Given the description of an element on the screen output the (x, y) to click on. 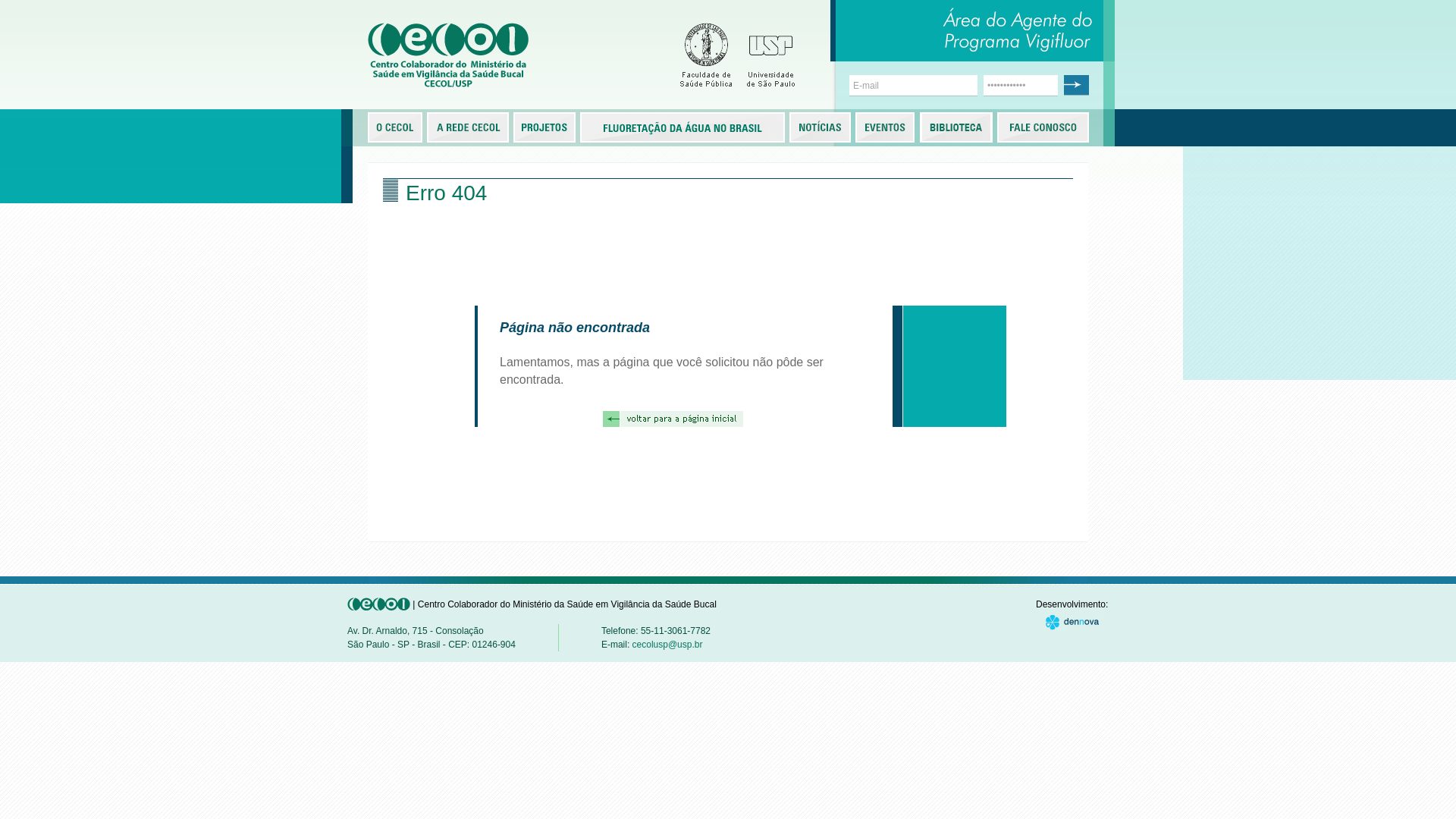
Fale Conosco Element type: text (1050, 127)
Ok Element type: text (1075, 85)
cecolusp@usp.br Element type: text (667, 644)
A Rede Cecol Element type: text (478, 127)
Eventos Element type: text (884, 127)
BIBLIOTECA Element type: text (955, 127)
O Cecol Element type: text (395, 127)
Dennova Element type: text (1071, 622)
Projetos Element type: text (543, 127)
